Given the description of an element on the screen output the (x, y) to click on. 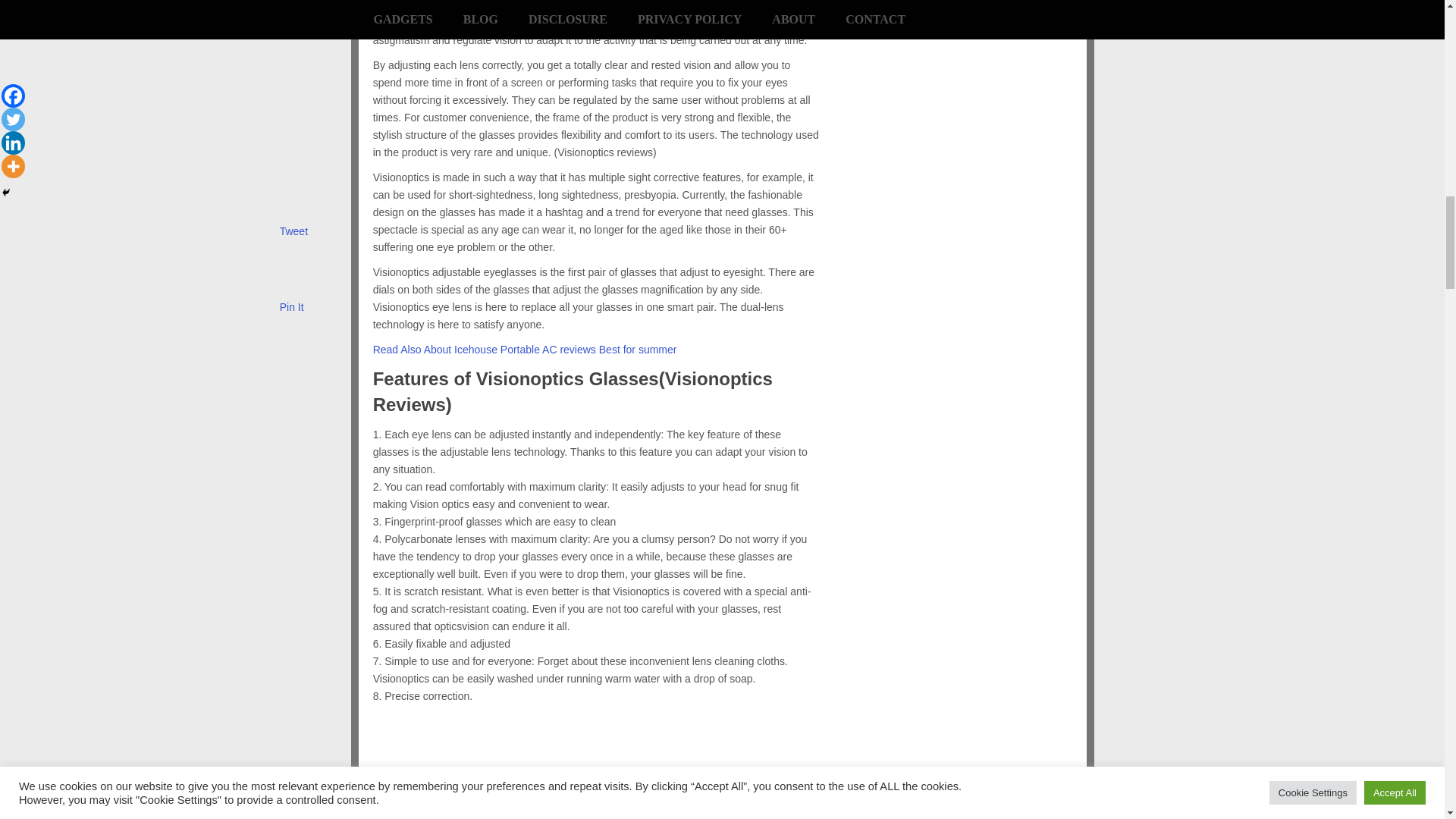
Read Also About Icehouse Portable AC reviews Best for summer (524, 349)
